Given the description of an element on the screen output the (x, y) to click on. 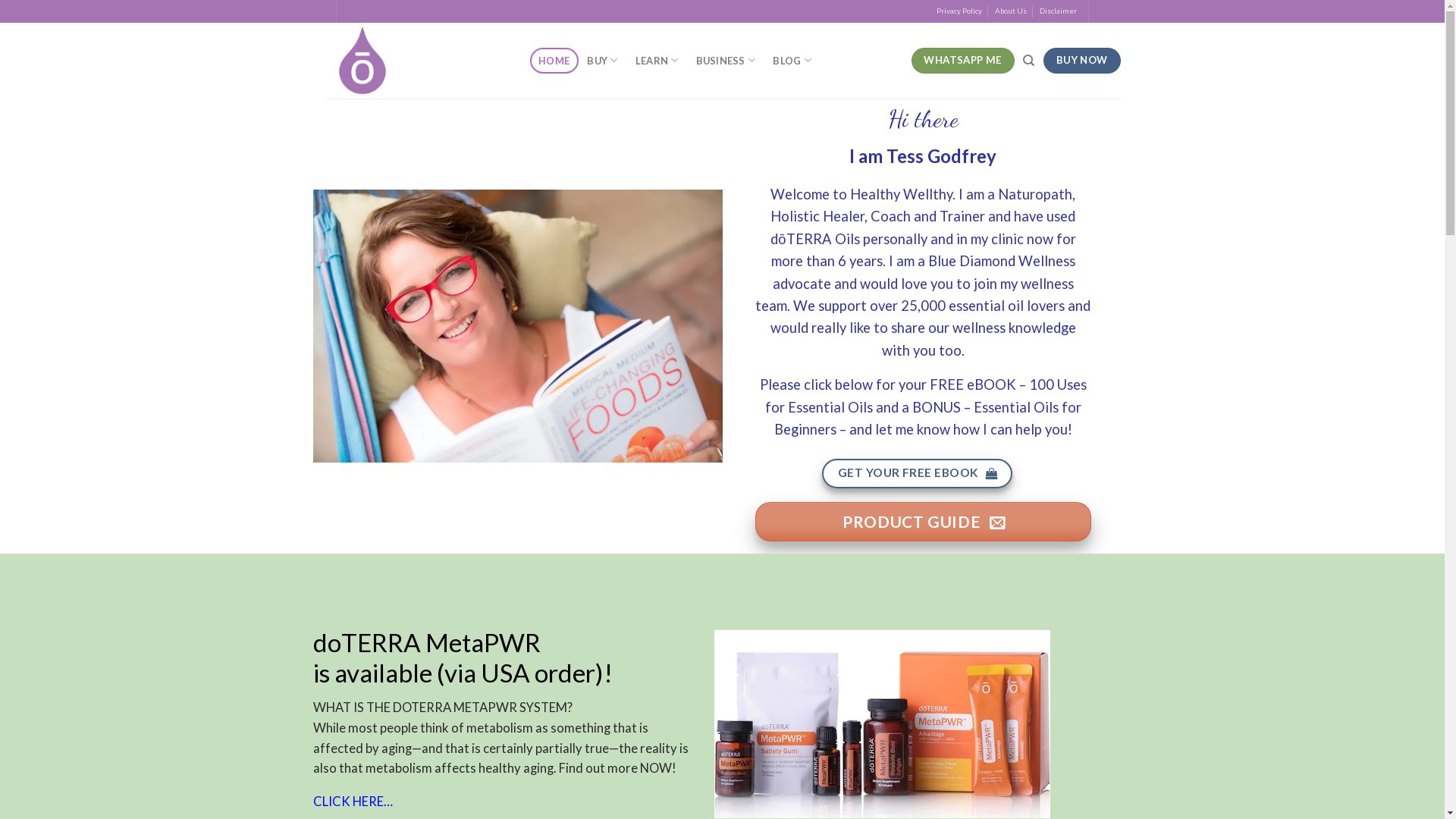
Find out more NOW! Element type: text (616, 767)
BLOG Element type: text (792, 60)
About Us Element type: text (1010, 10)
doTERRA MetaPWR Element type: text (425, 641)
BUSINESS Element type: text (725, 60)
BUY NOW Element type: text (1081, 60)
LEARN Element type: text (656, 60)
Privacy Policy Element type: text (959, 10)
GET YOUR FREE EBOOK Element type: text (917, 474)
Disclaimer Element type: text (1057, 10)
HOME Element type: text (553, 60)
WHATSAPP ME Element type: text (962, 60)
BUY Element type: text (602, 60)
PRODUCT GUIDE Element type: text (923, 522)
